Given the description of an element on the screen output the (x, y) to click on. 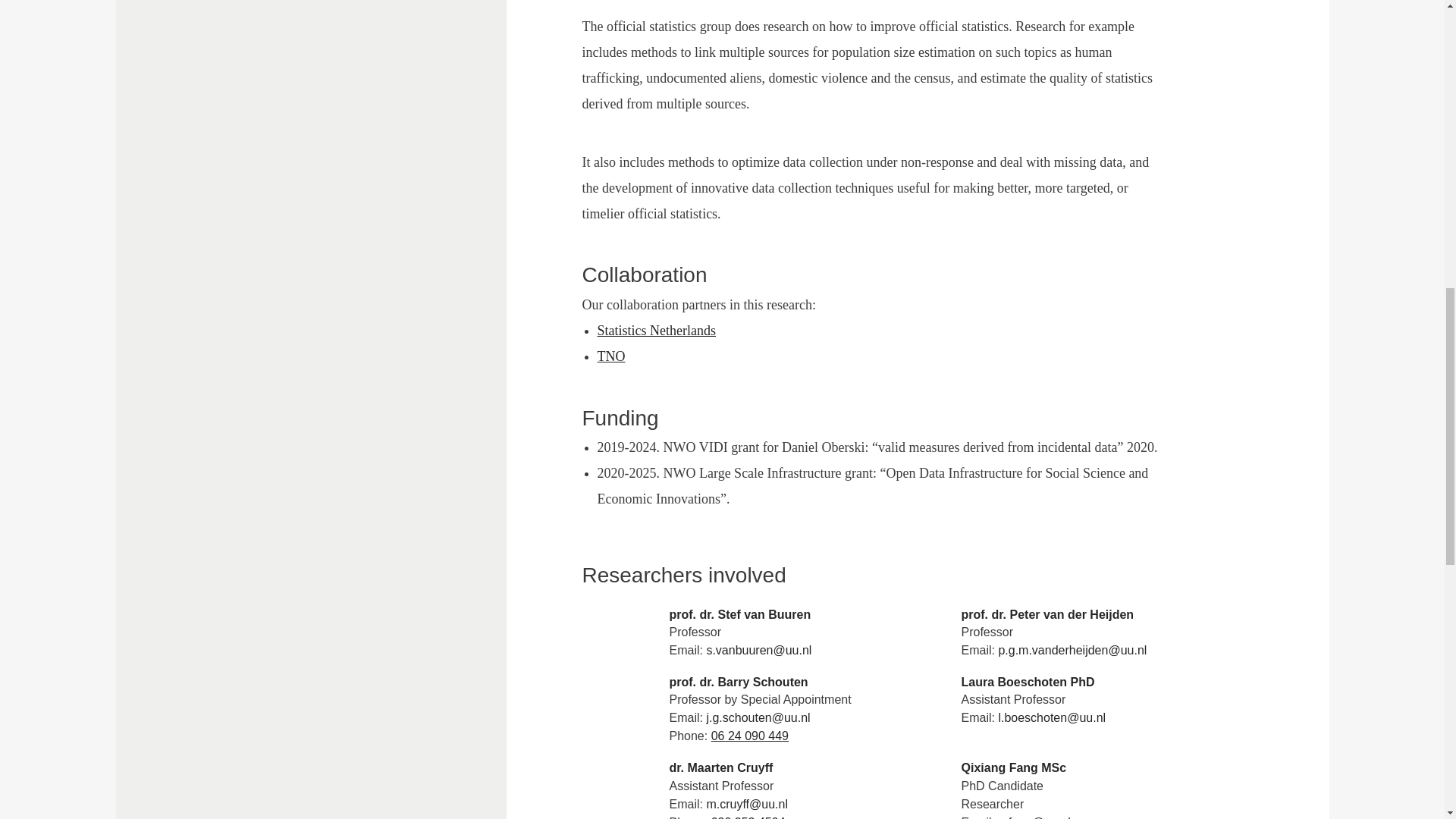
06 24 090 449 (750, 735)
prof. dr. Stef van Buuren (665, 330)
prof. dr. Barry Schouten (620, 355)
prof. dr. Peter van der Heijden (739, 614)
Laura Boeschoten PhD (759, 681)
